Given the description of an element on the screen output the (x, y) to click on. 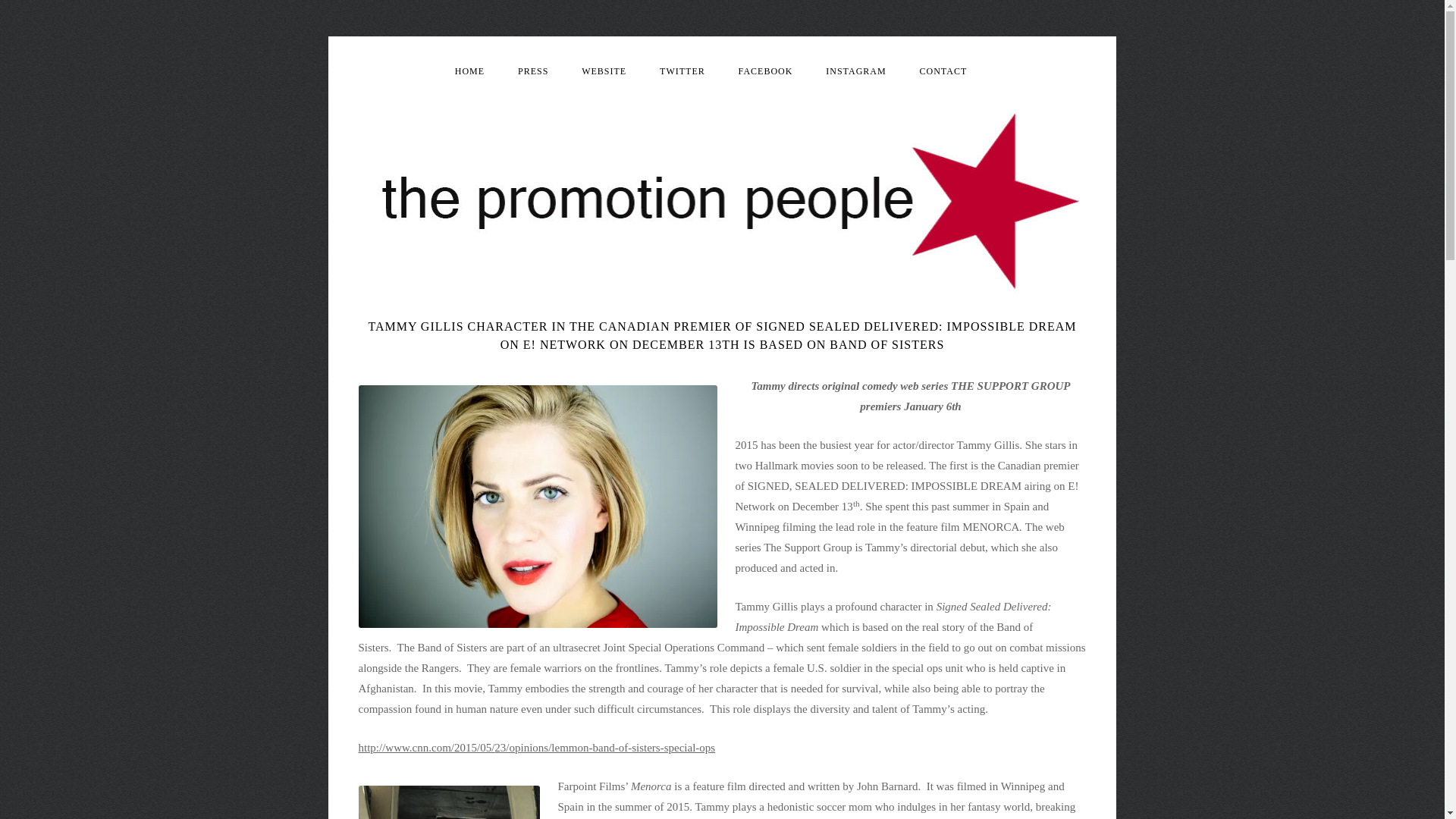
PRESS (533, 70)
TWITTER (681, 70)
FACEBOOK (765, 70)
INSTAGRAM (855, 70)
WEBSITE (603, 70)
CONTACT (944, 70)
